Given the description of an element on the screen output the (x, y) to click on. 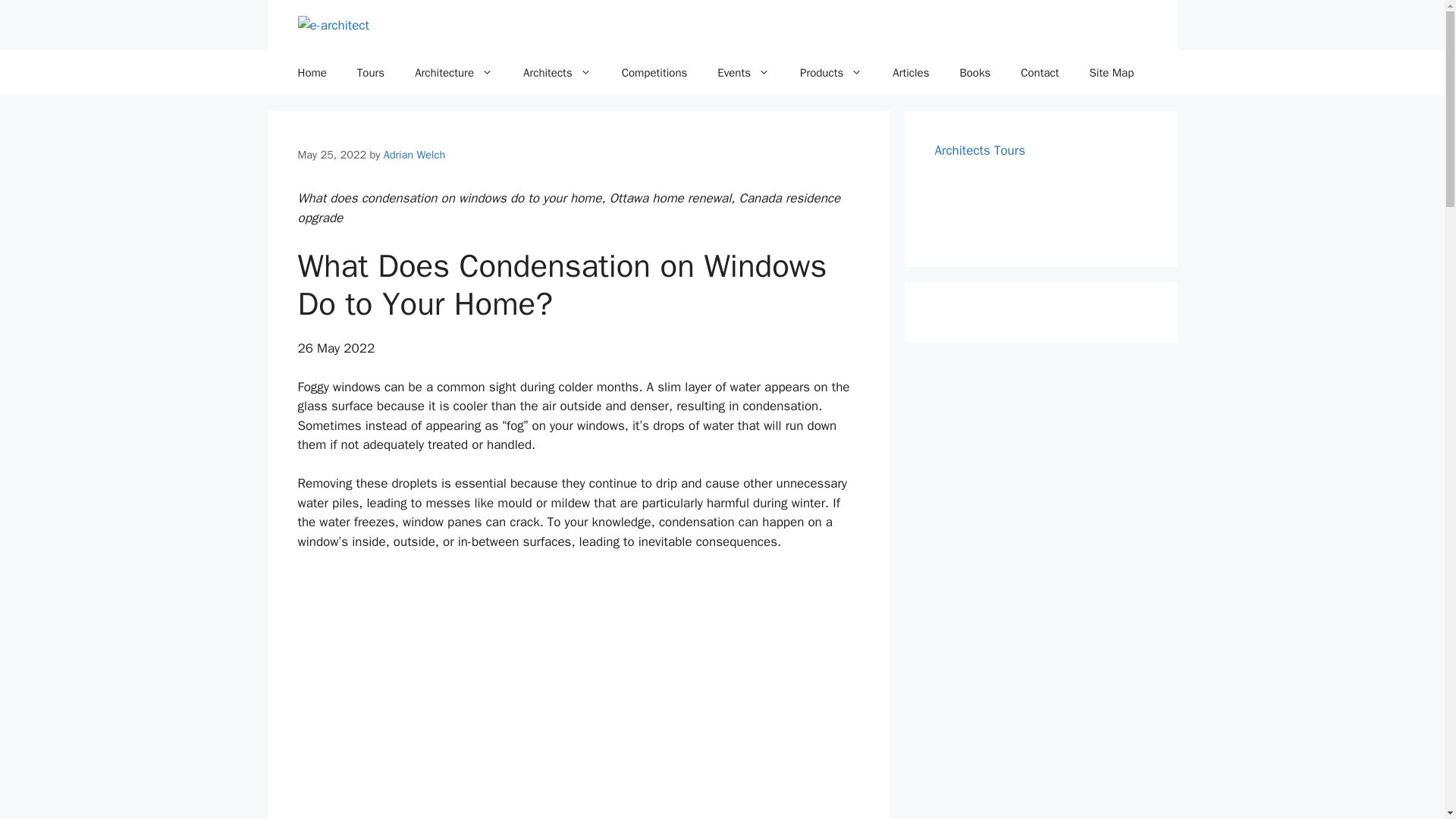
Site Map (1112, 72)
Articles (910, 72)
Home (311, 72)
Home (311, 72)
Architecture (453, 72)
Products (830, 72)
Events (742, 72)
Architects Tours (979, 150)
Books (974, 72)
View all posts by Adrian Welch (414, 154)
Tours (370, 72)
Competitions (655, 72)
Contact (1040, 72)
Architects (557, 72)
Adrian Welch (414, 154)
